Given the description of an element on the screen output the (x, y) to click on. 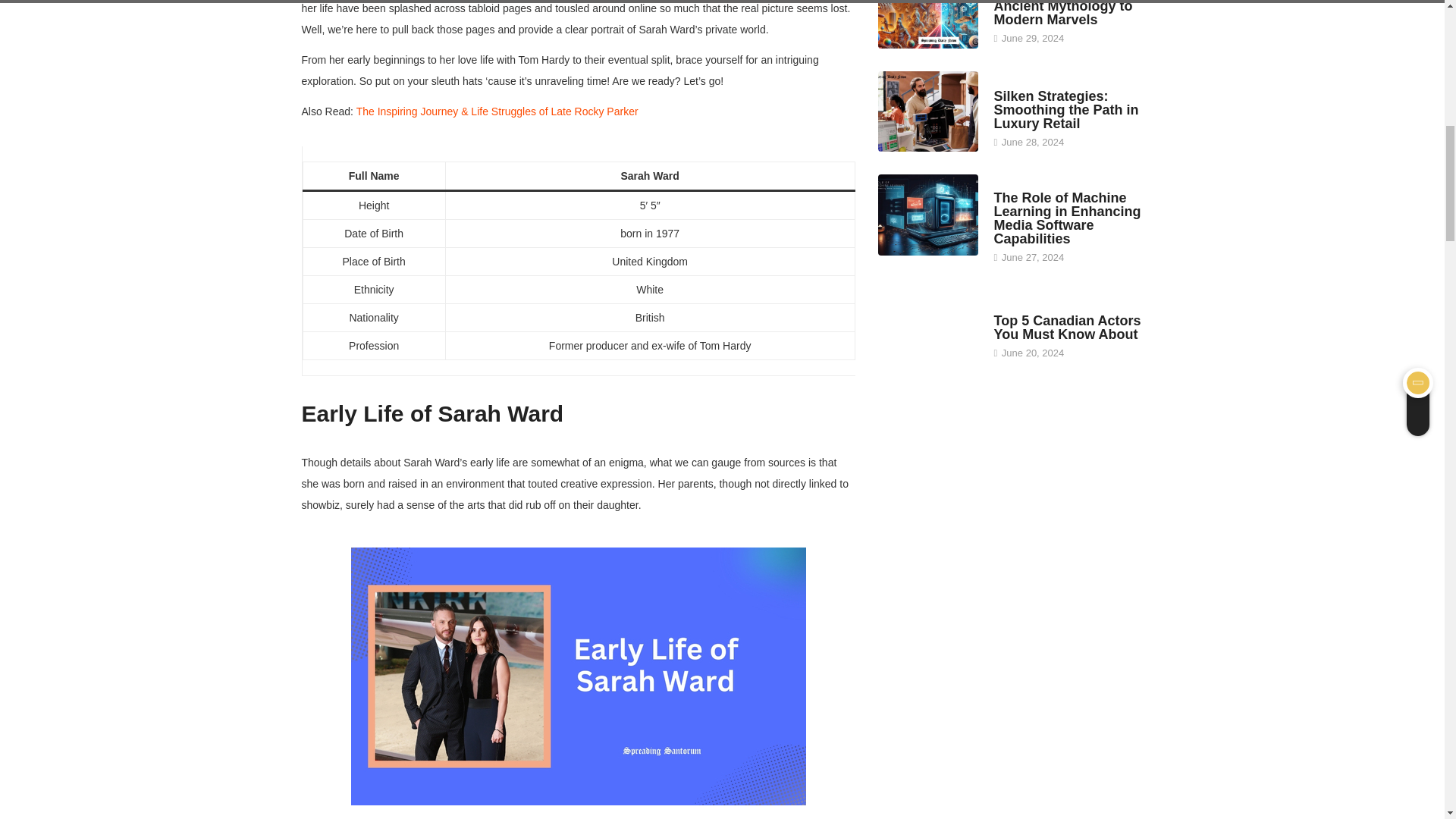
Silken Strategies: Smoothing the Path in Luxury Retail (1065, 109)
Game Themes: From Ancient Mythology to Modern Marvels (1062, 13)
Top 5 Canadian Actors You Must Know About (1066, 327)
Top 5 Canadian Actors You Must Know About (927, 329)
Silken Strategies: Smoothing the Path in Luxury Retail (927, 111)
Game Themes: From Ancient Mythology to Modern Marvels (927, 24)
